Given the description of an element on the screen output the (x, y) to click on. 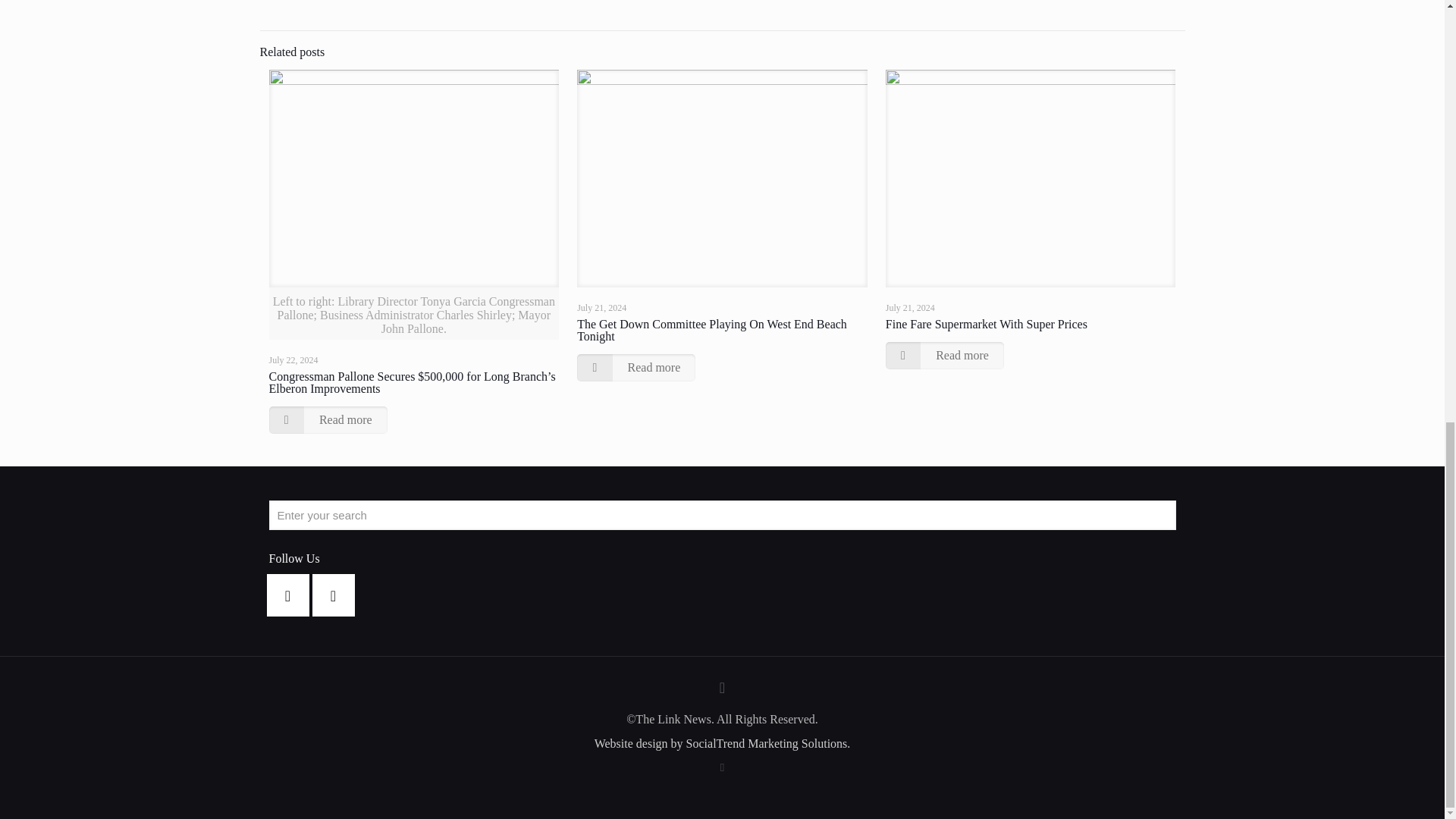
Facebook (722, 767)
